Given the description of an element on the screen output the (x, y) to click on. 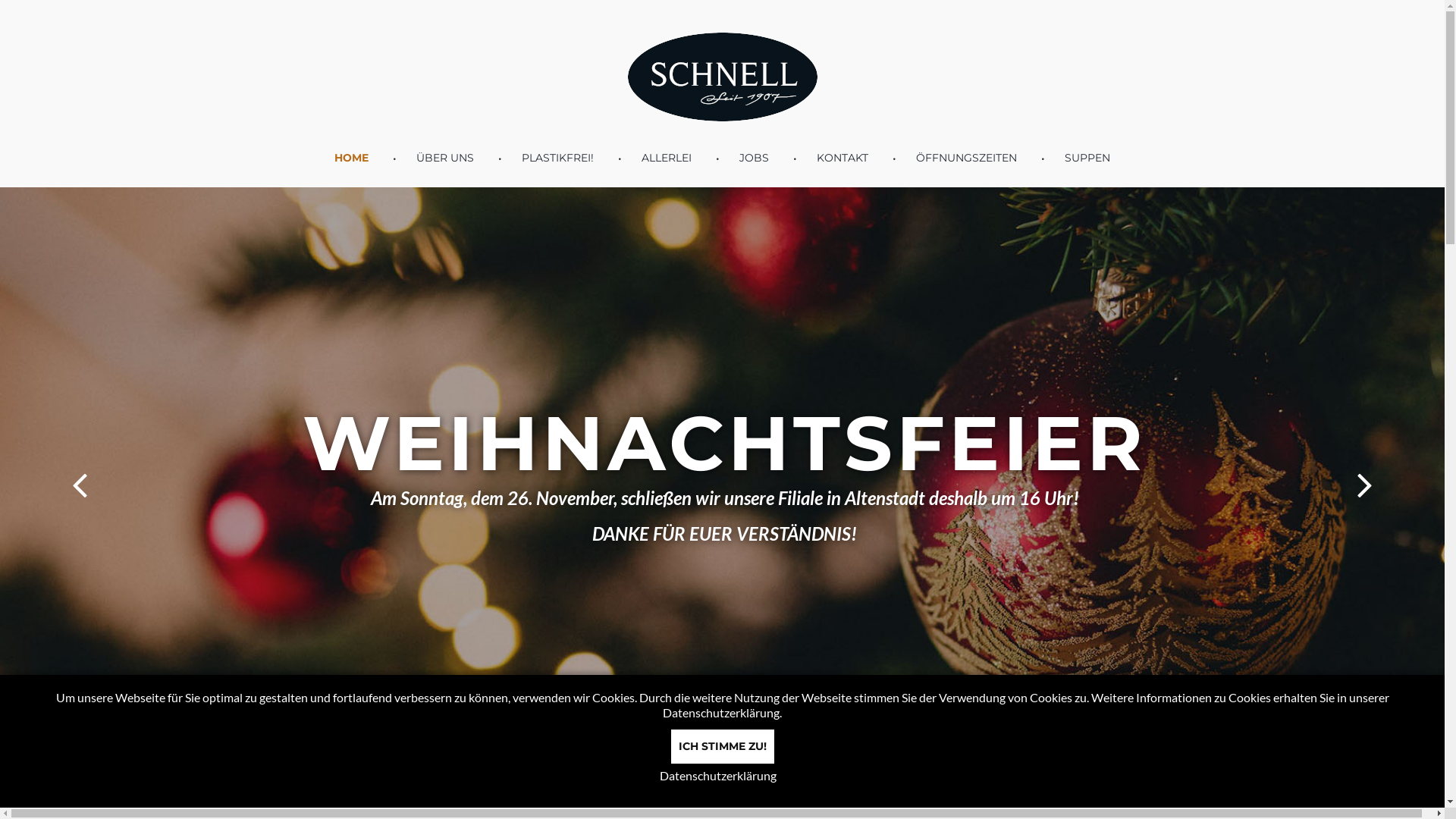
ICH STIMME ZU! Element type: text (721, 746)
JOBS Element type: text (753, 157)
SUPPEN Element type: text (1087, 157)
KONTAKT Element type: text (842, 157)
HOME Element type: text (351, 157)
ALLERLEI Element type: text (666, 157)
PLASTIKFREI! Element type: text (557, 157)
